Given the description of an element on the screen output the (x, y) to click on. 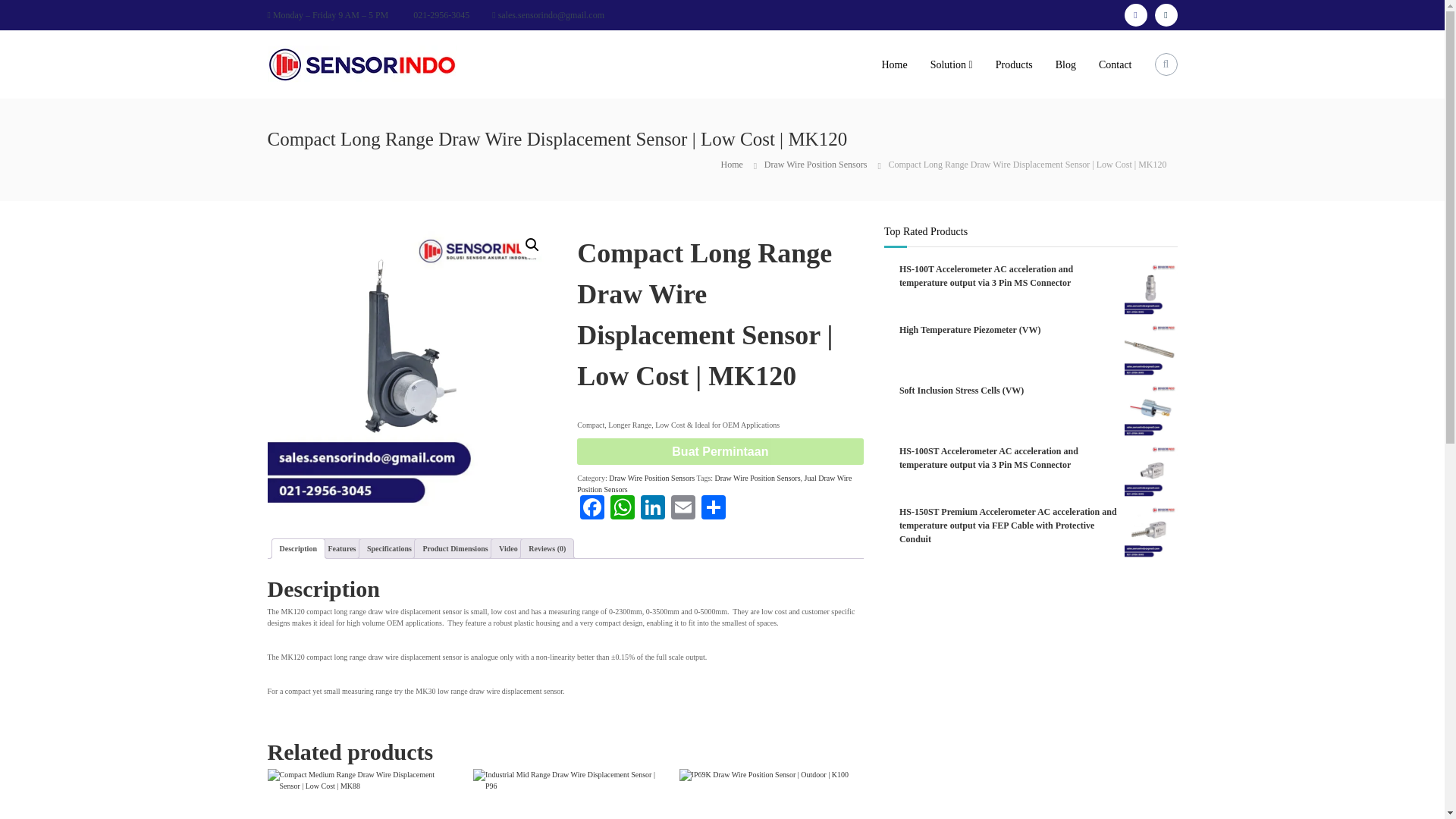
Home (731, 163)
Products (1013, 64)
Draw Wire Position Sensors (757, 478)
WhatsApp (622, 509)
Features (341, 547)
Home (893, 64)
Facebook (591, 509)
Email (683, 509)
Product Dimensions (454, 547)
Contact (1115, 64)
